Given the description of an element on the screen output the (x, y) to click on. 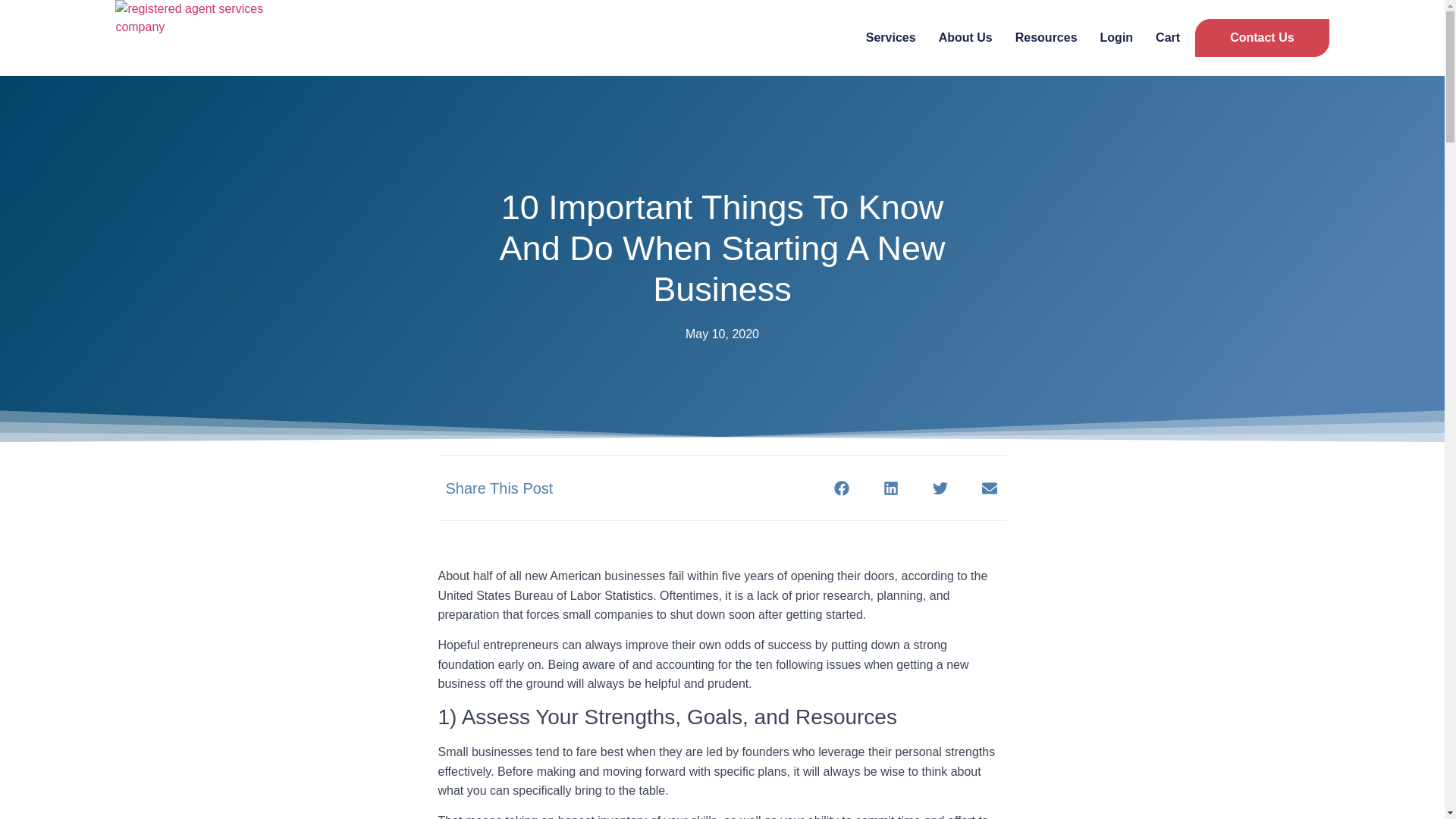
Services (890, 37)
Login (1117, 37)
Resources (1045, 37)
About Us (965, 37)
Cart (1167, 37)
